Given the description of an element on the screen output the (x, y) to click on. 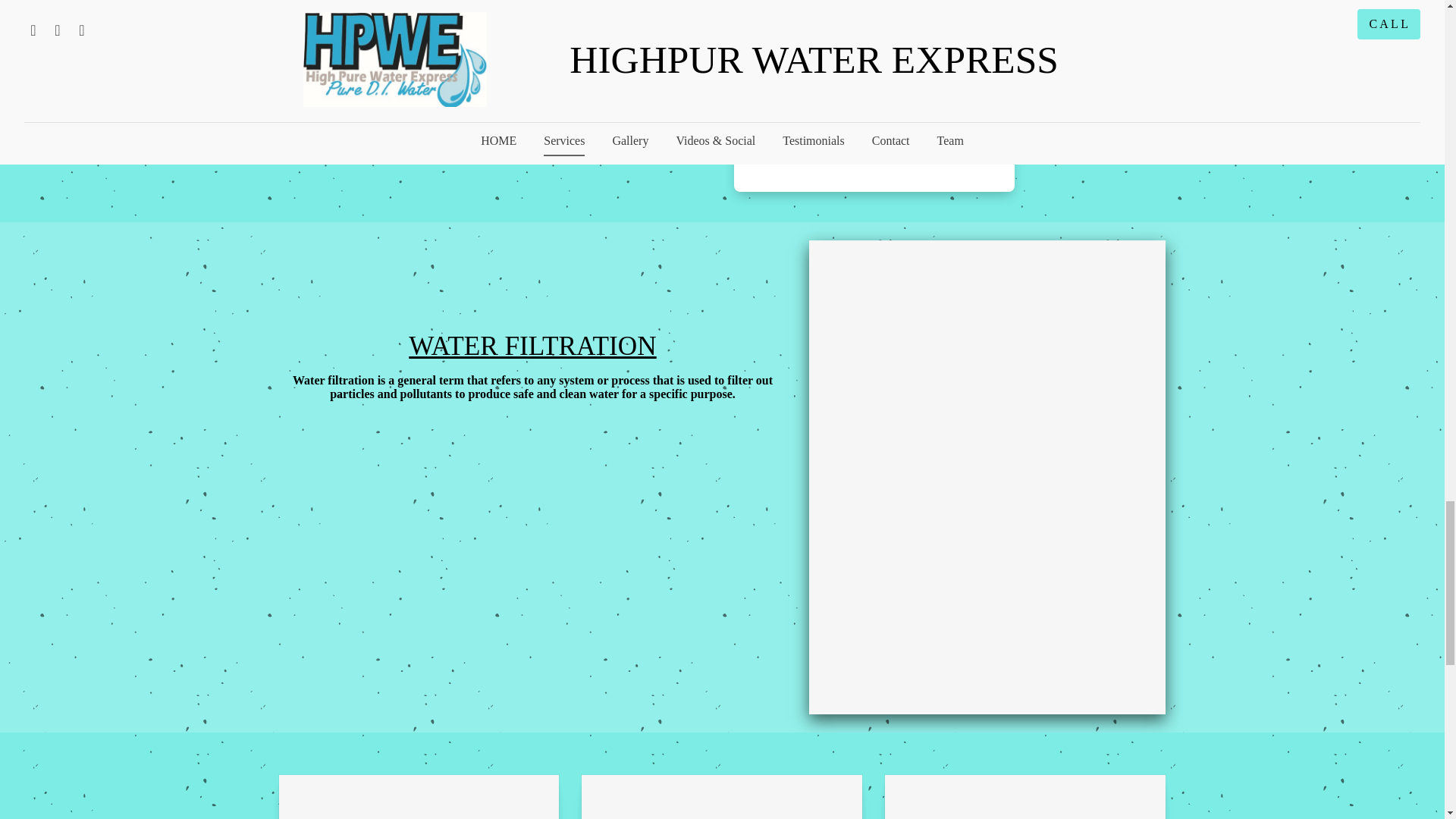
Industrial Waste Water Treatment (873, 84)
Industrial Grey Water Treatment (569, 38)
